Given the description of an element on the screen output the (x, y) to click on. 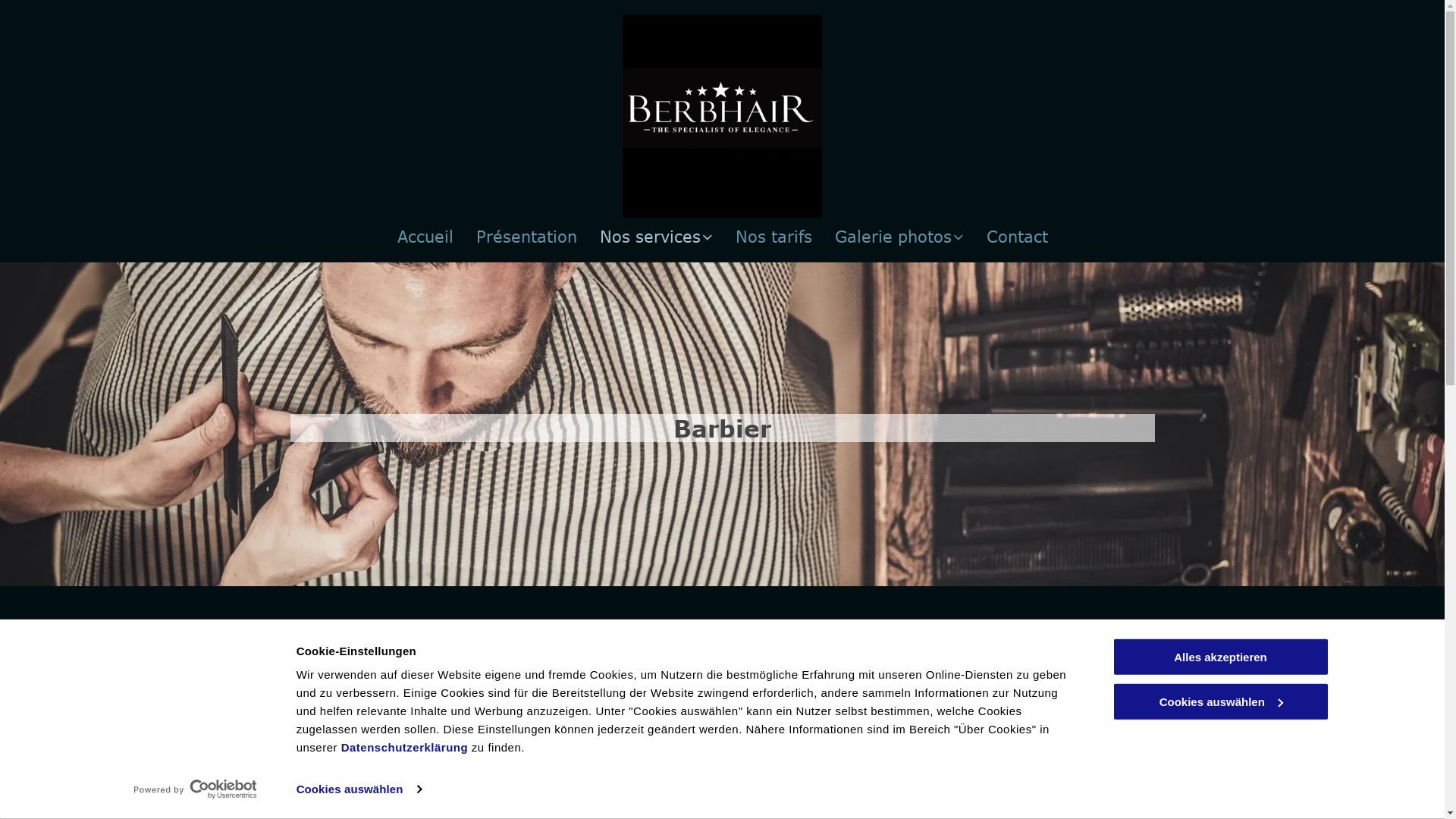
Galerie photos Element type: text (898, 235)
Nos tarifs Element type: text (773, 235)
Nos services Element type: text (655, 235)
Alles akzeptieren Element type: text (1219, 656)
Accueil Element type: text (425, 235)
Contact Element type: text (1016, 235)
